Given the description of an element on the screen output the (x, y) to click on. 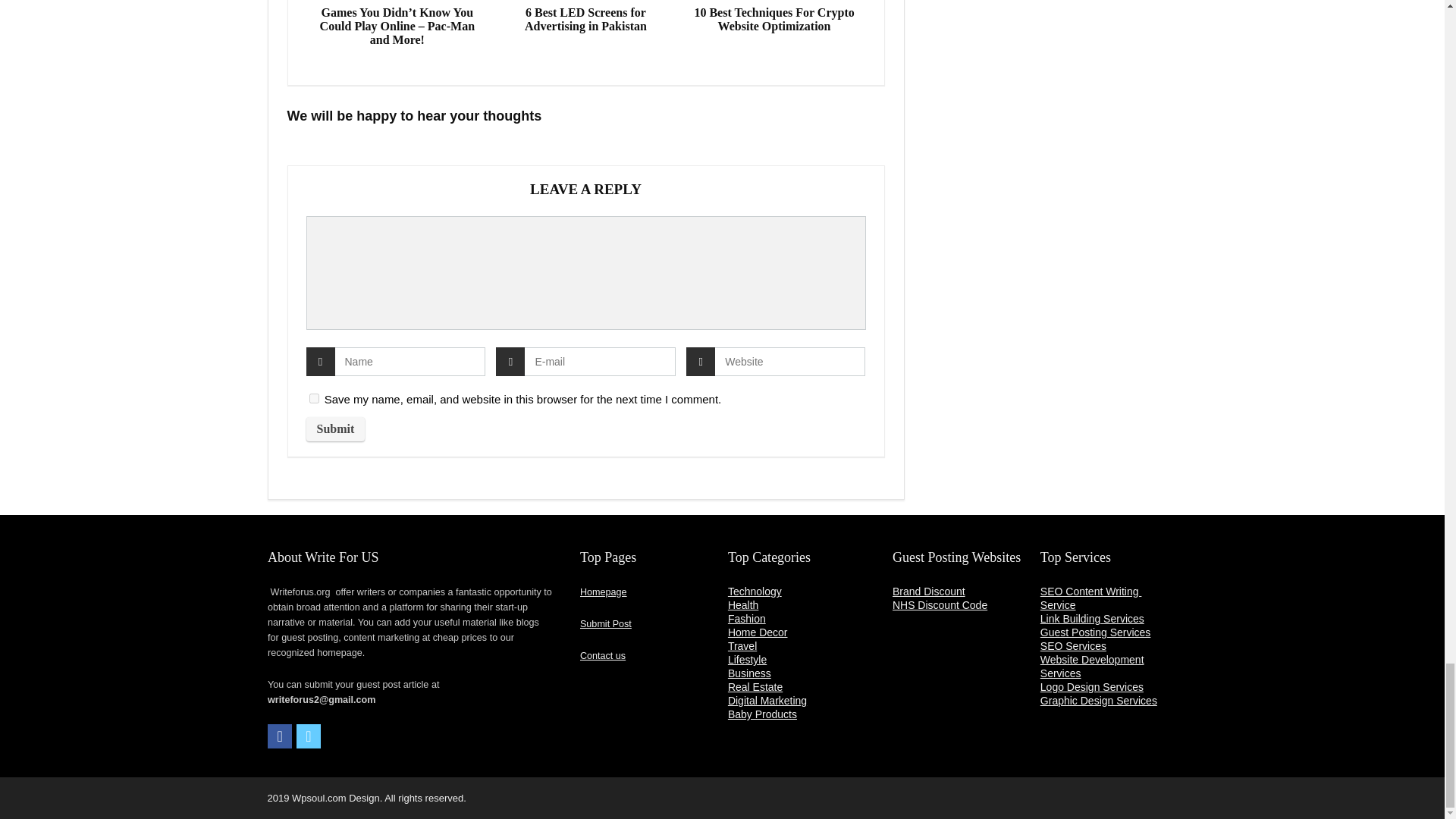
6 Best LED Screens for Advertising in Pakistan (584, 19)
Submit (335, 428)
yes (313, 398)
10 Best Techniques For Crypto Website Optimization (774, 19)
